Given the description of an element on the screen output the (x, y) to click on. 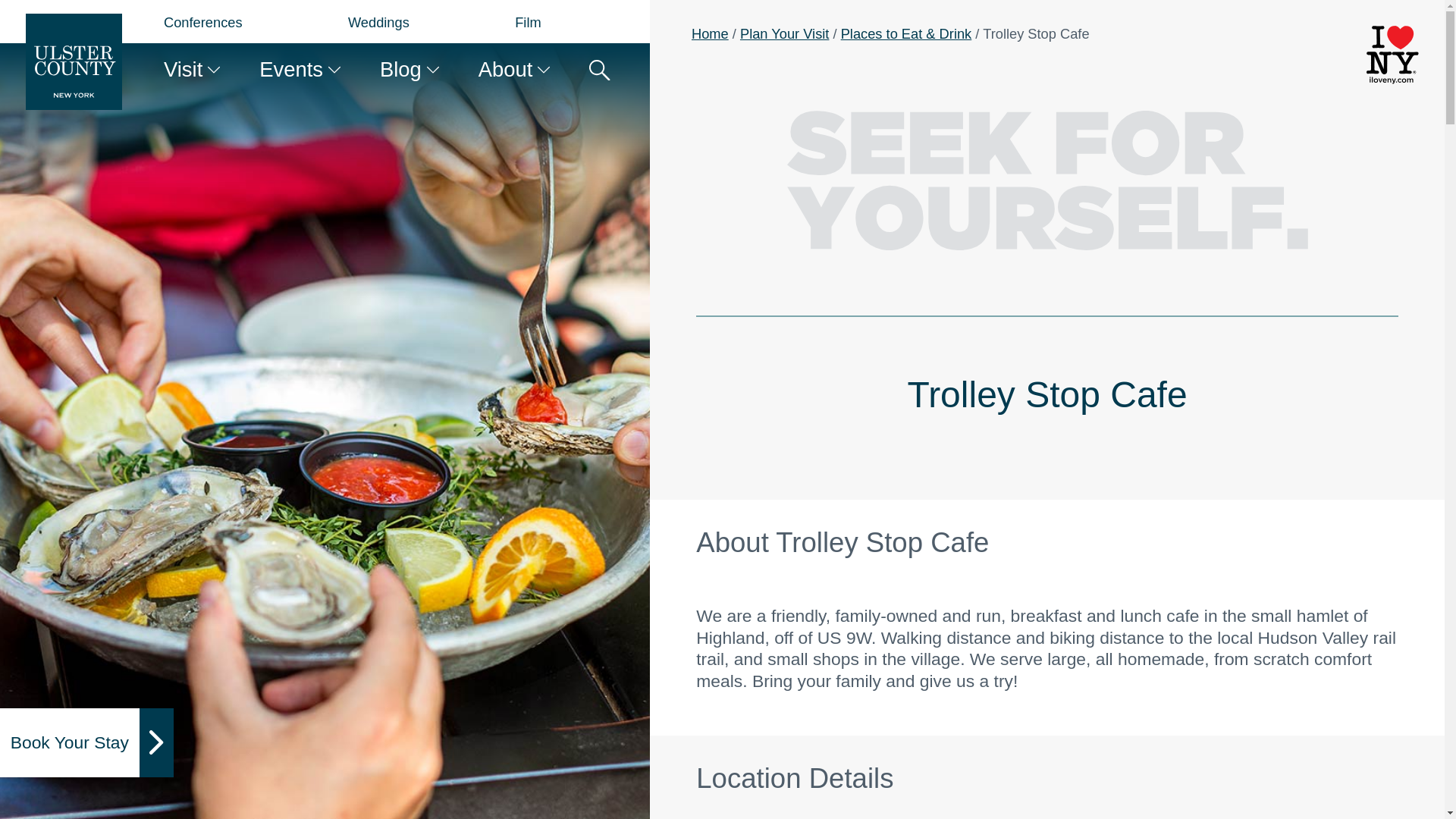
Conferences (203, 22)
Film (528, 22)
Events (291, 69)
Blog (401, 69)
About (505, 69)
Visit (182, 69)
I Love NY Logo (1392, 54)
Weddings (378, 22)
